Given the description of an element on the screen output the (x, y) to click on. 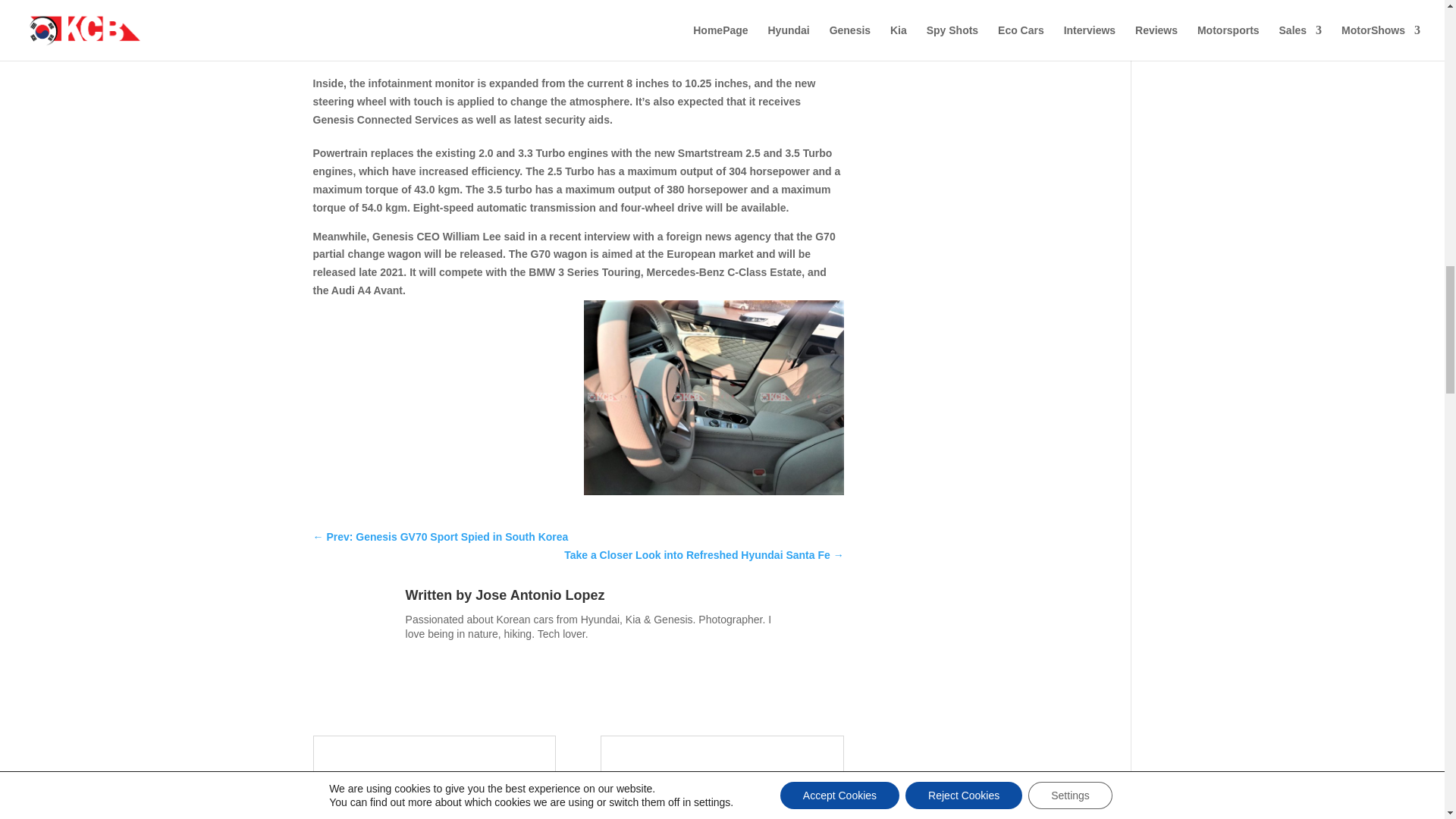
Hyundai IONIQ 5 N Track Driving (998, 677)
KIA EV6 GT Facelift Testing in Europe (998, 247)
